Given the description of an element on the screen output the (x, y) to click on. 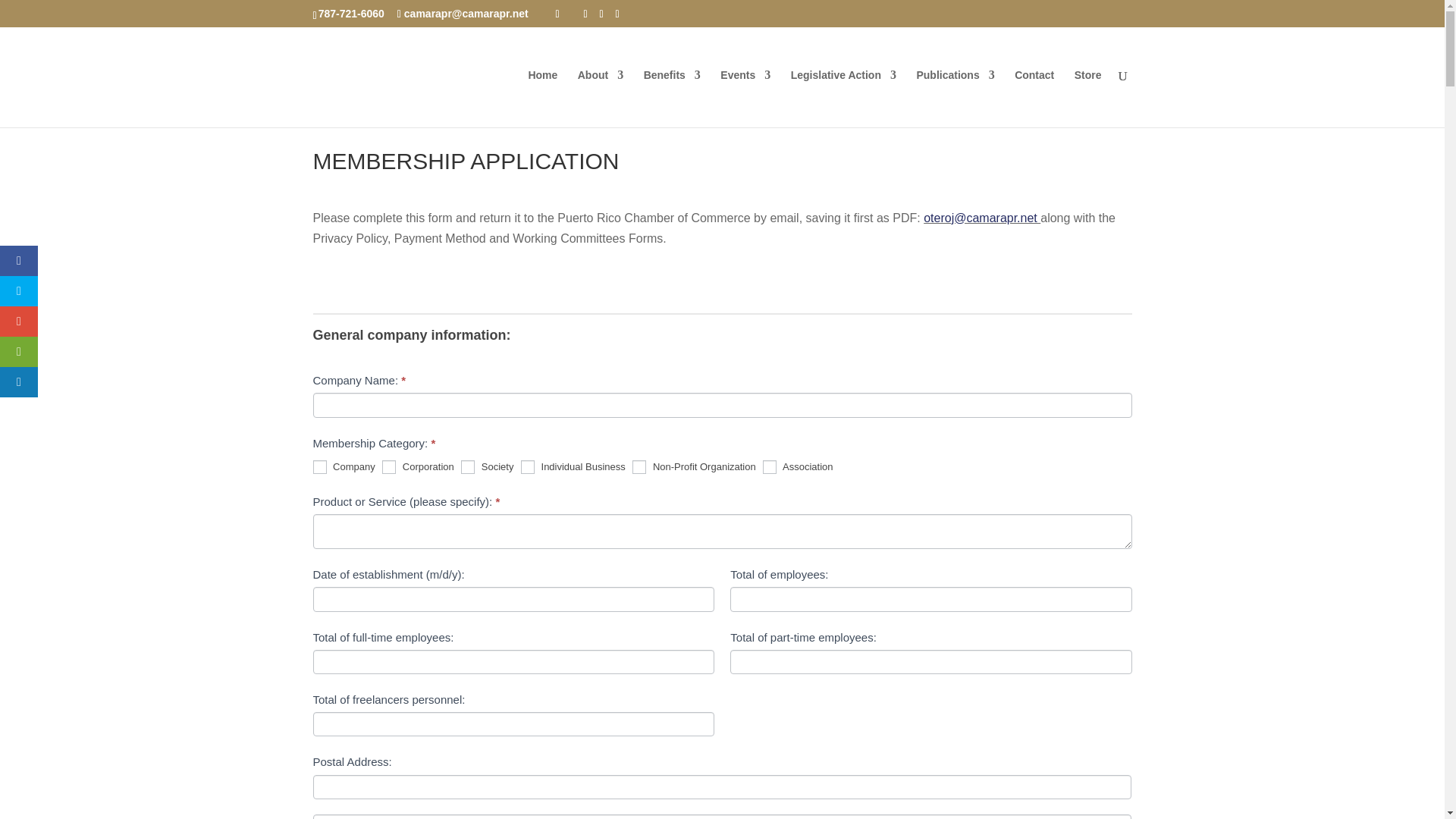
Non-Profit Organization (638, 467)
Company (319, 467)
Corporation (388, 467)
Individual Business (527, 467)
Association (769, 467)
Benefits (671, 98)
Society (467, 467)
